Given the description of an element on the screen output the (x, y) to click on. 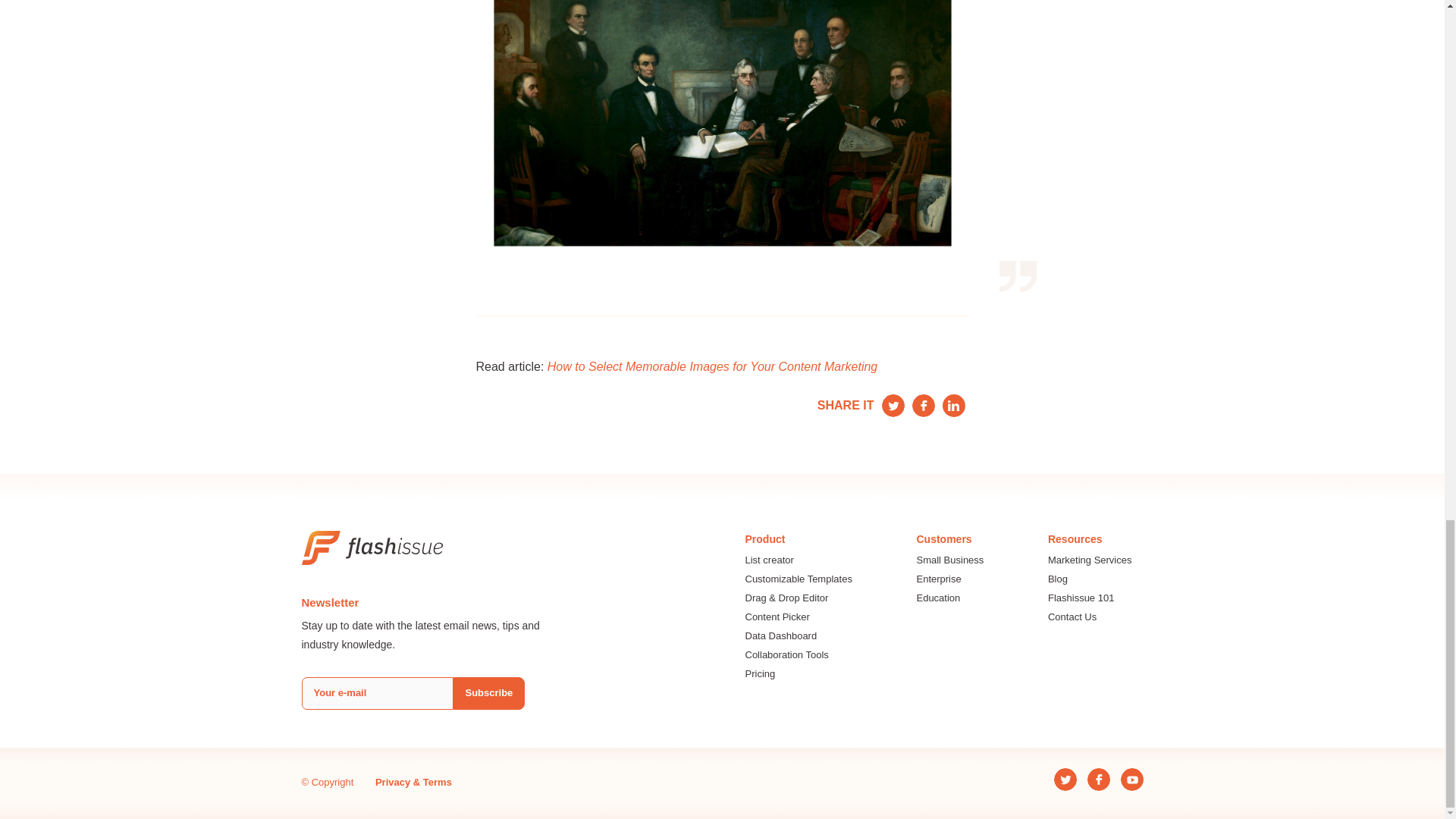
FB (922, 404)
Small Business (949, 560)
TW (892, 404)
Subscribe (488, 693)
List creator (797, 560)
Data Dashboard (797, 636)
Education (949, 598)
Enterprise (949, 579)
How to Select Memorable Images for Your Content Marketing (712, 366)
Collaboration Tools (797, 655)
